Given the description of an element on the screen output the (x, y) to click on. 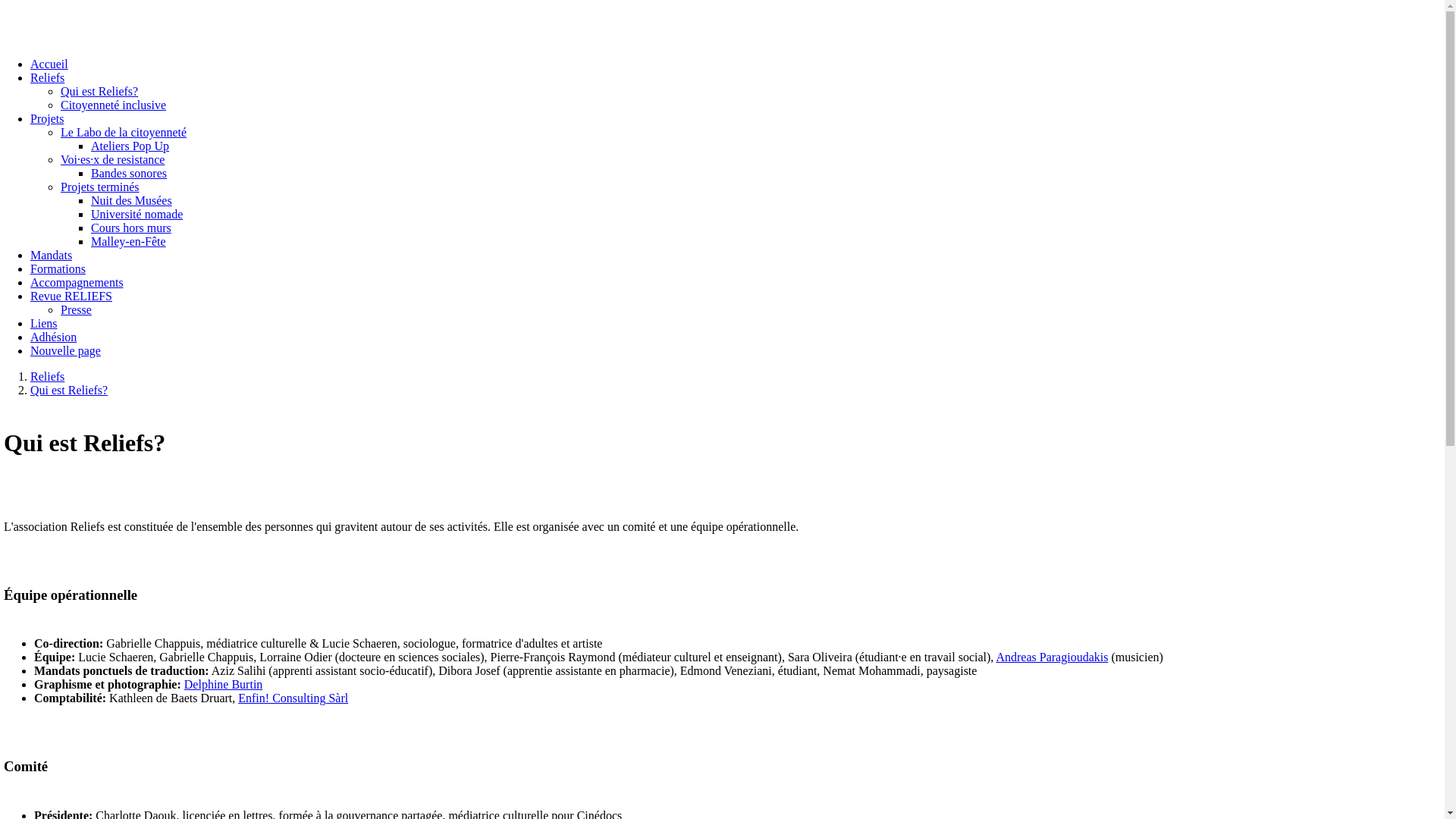
Mandats Element type: text (51, 254)
Reliefs Element type: text (47, 77)
Accompagnements Element type: text (76, 282)
Andreas Paragioudakis Element type: text (1051, 656)
Delphine Burtin Element type: text (223, 683)
Projets Element type: text (46, 118)
Nouvelle page Element type: text (65, 350)
Ateliers Pop Up Element type: text (130, 145)
Bandes sonores Element type: text (128, 172)
Qui est Reliefs? Element type: text (68, 389)
Liens Element type: text (43, 322)
Accueil Element type: text (49, 63)
Presse Element type: text (75, 309)
Formations Element type: text (57, 268)
Cours hors murs Element type: text (131, 227)
Qui est Reliefs? Element type: text (99, 90)
Reliefs Element type: text (47, 376)
Revue RELIEFS Element type: text (71, 295)
